Given the description of an element on the screen output the (x, y) to click on. 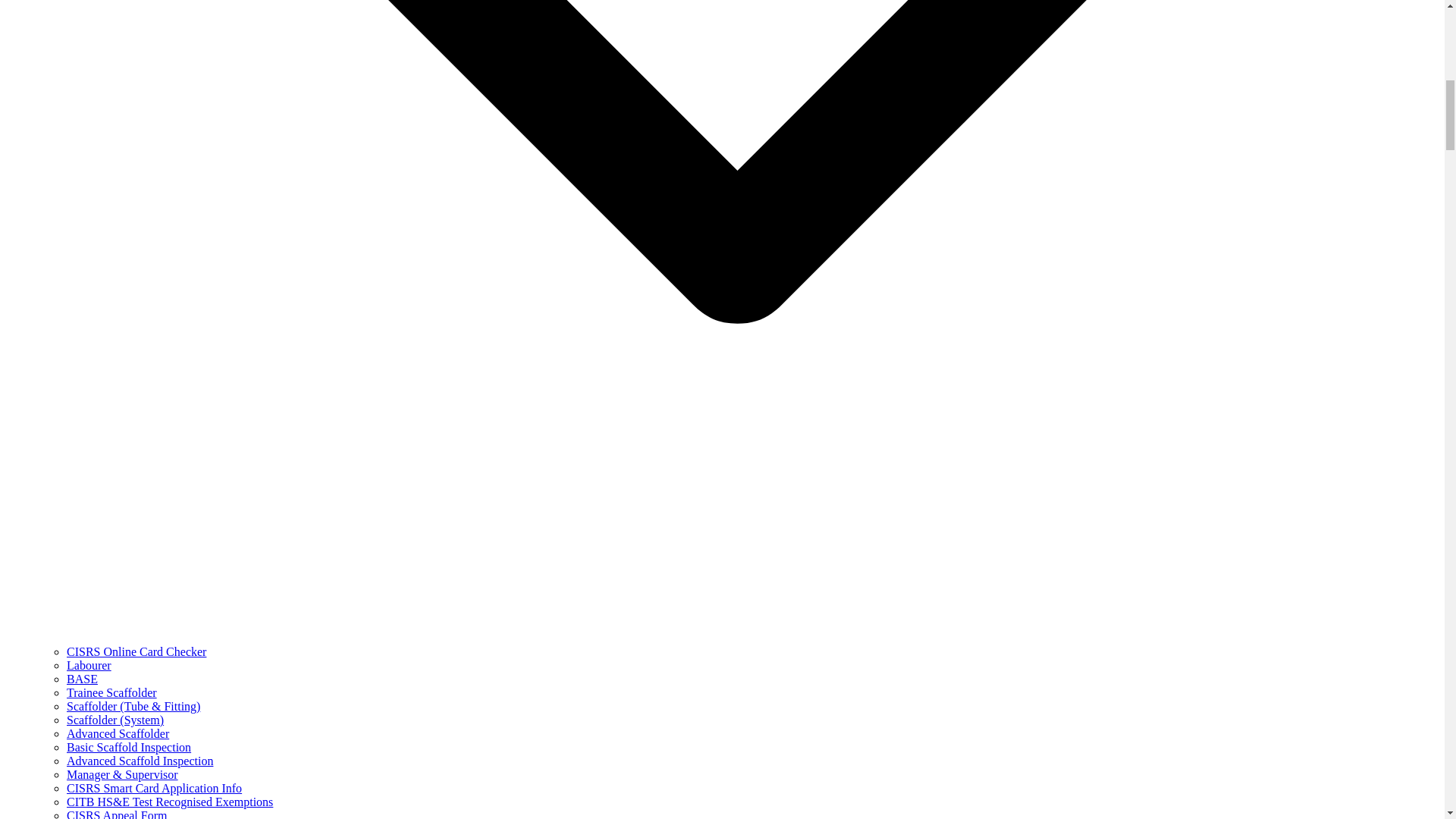
CISRS Cards (169, 801)
CISRS Cards (111, 692)
Basic Scaffold Inspection (128, 747)
CISRS Cards (114, 719)
CISRS Cards (153, 788)
Advanced Scaffolder (117, 733)
CISRS Smart Card Application Info (153, 788)
CISRS Cards (116, 814)
CISRS Appeal Form (116, 814)
Advanced Scaffold Inspection (139, 760)
CISRS Cards (139, 760)
BASE (81, 678)
CISRS Cards (121, 774)
CISRS Cards (133, 706)
Labourer (89, 665)
